Given the description of an element on the screen output the (x, y) to click on. 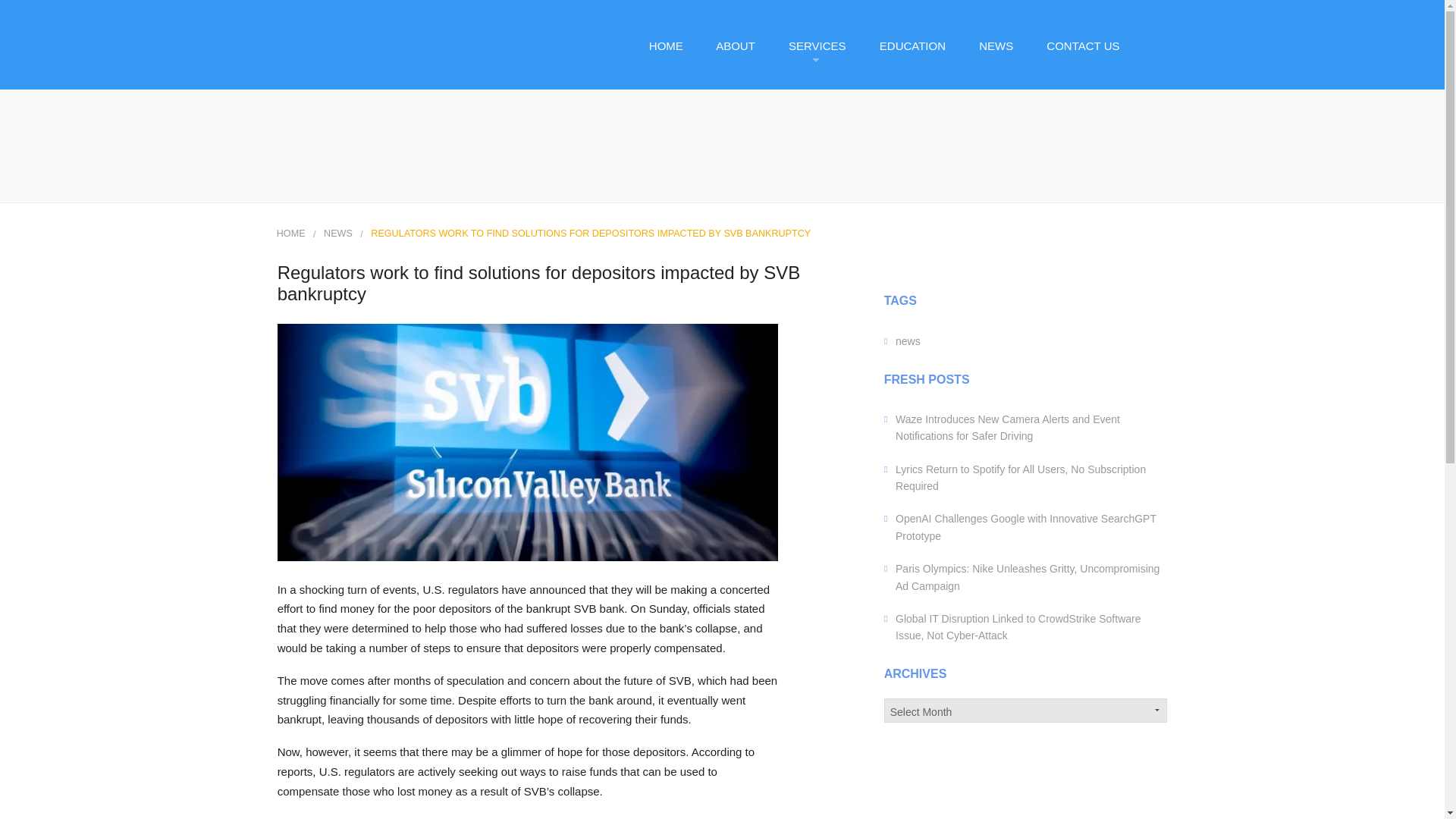
NEWS (994, 45)
CONTACT US (1082, 45)
HOME (290, 233)
NEWS (337, 233)
OpenAI Challenges Google with Innovative SearchGPT Prototype (1025, 526)
SERVICES (816, 45)
TRAFFIC BUYING. EMAIL OUTREACH (831, 319)
AFFILIATE MARKETING (831, 106)
